Given the description of an element on the screen output the (x, y) to click on. 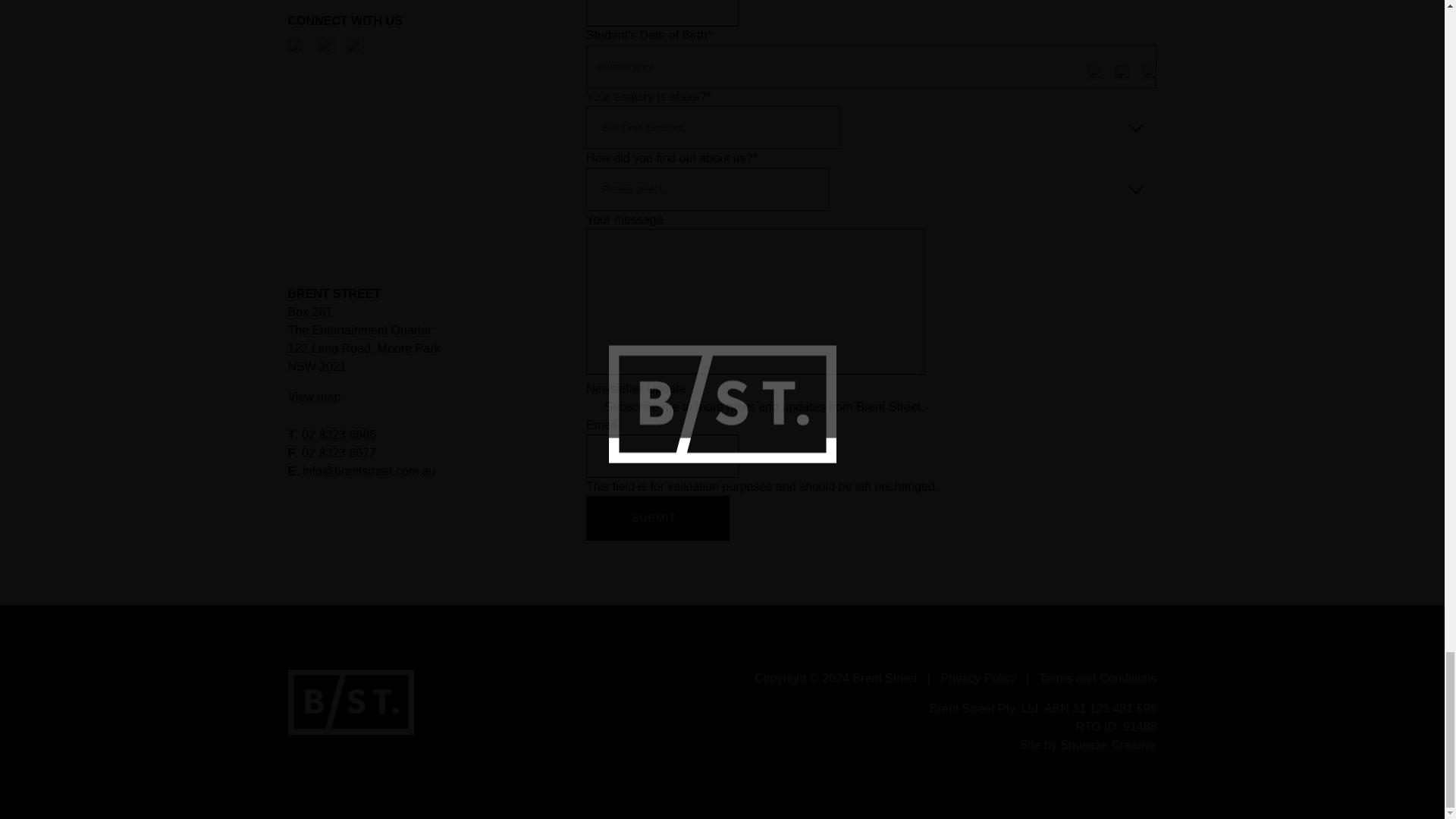
Submit (657, 518)
brent-street-logomark-reversed (350, 701)
Subscribe me to more news and updates from Brent Street. (593, 406)
